Given the description of an element on the screen output the (x, y) to click on. 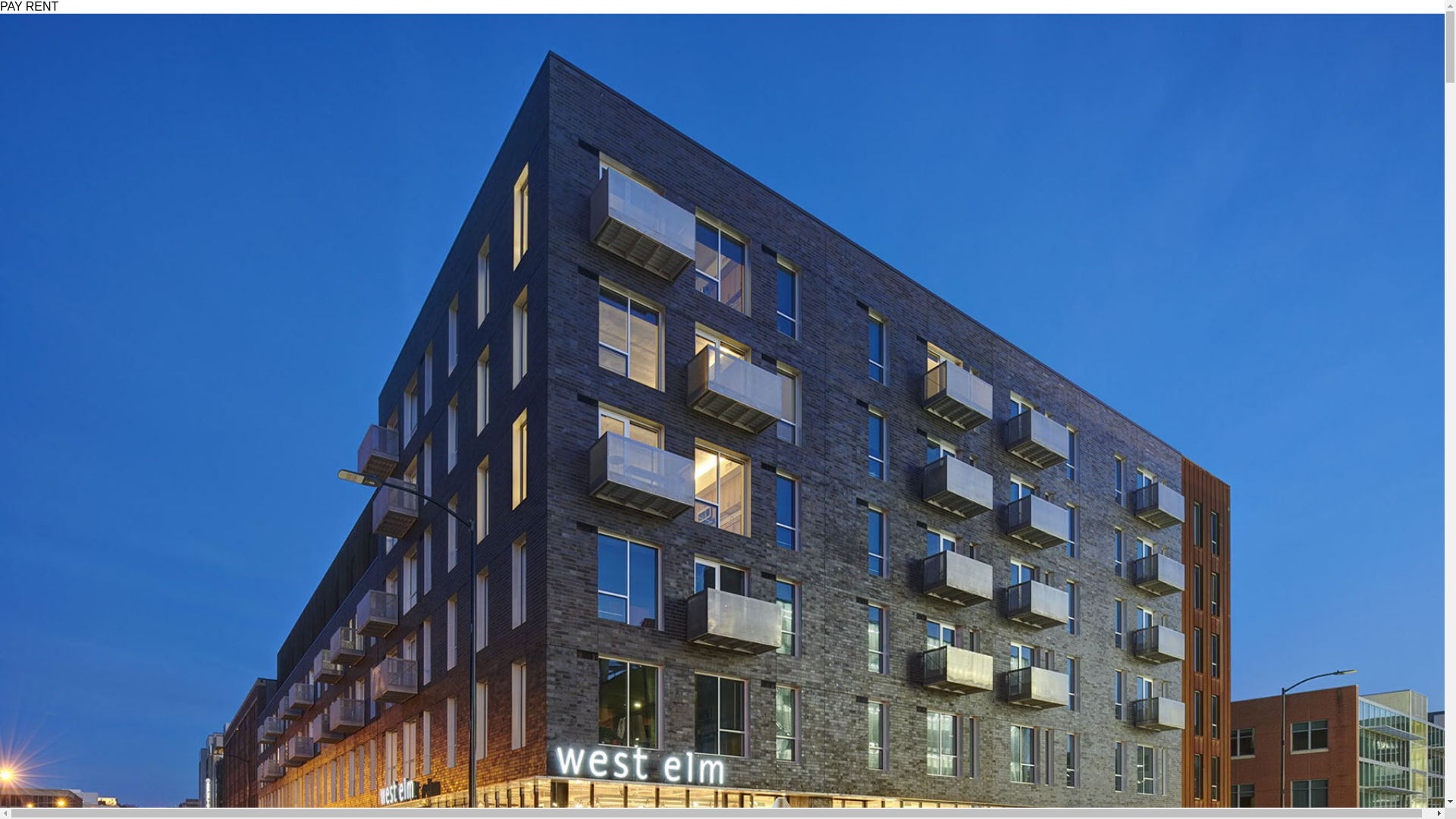
PAY RENT Element type: text (29, 6)
